Given the description of an element on the screen output the (x, y) to click on. 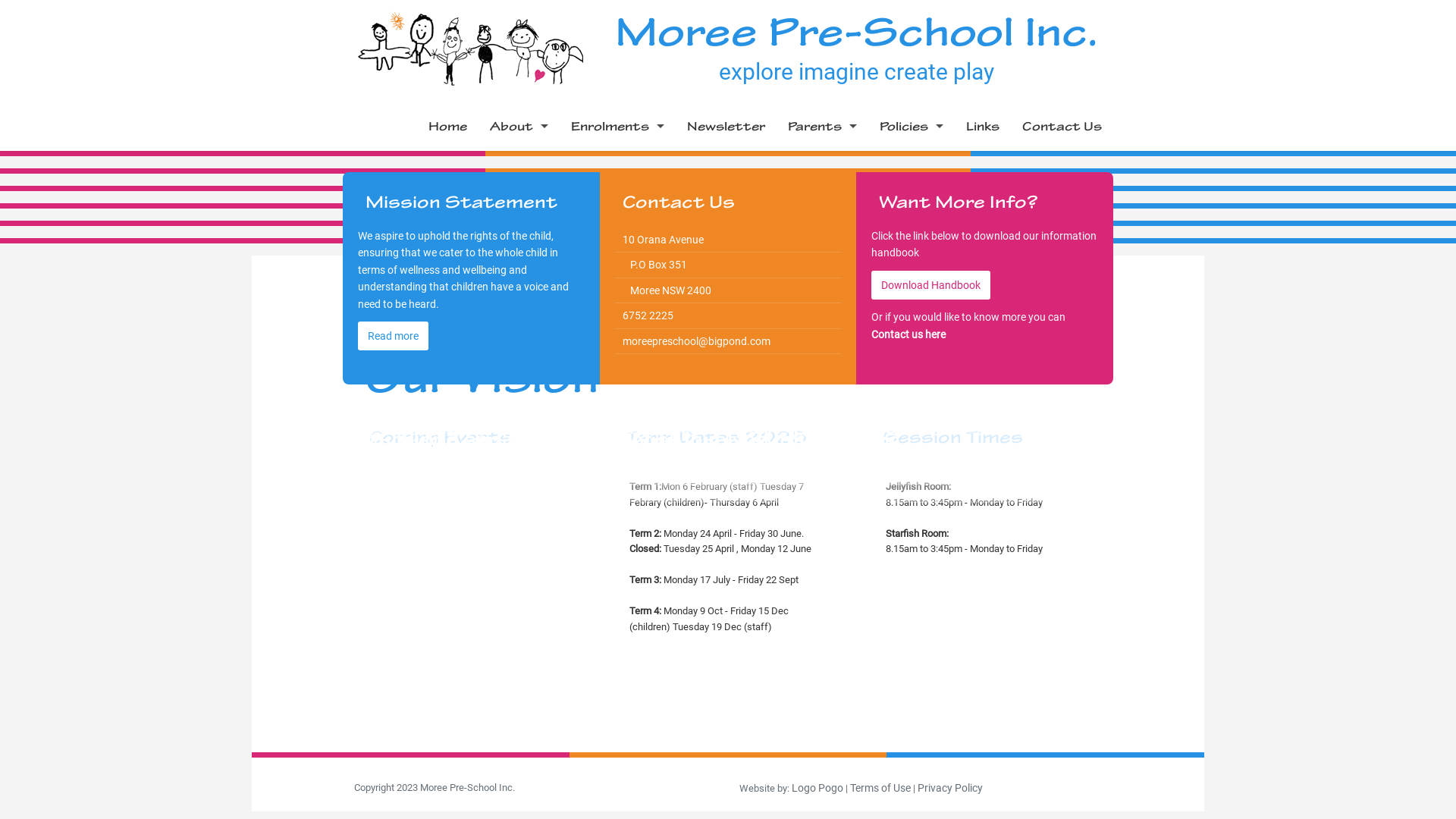
Forms Element type: text (617, 194)
Parents Element type: text (822, 126)
Delivery and Collection Information Element type: text (822, 296)
Terms of Use Element type: text (880, 787)
Management Element type: text (518, 228)
Curriculum and Program Element type: text (822, 330)
Logo Pogo Element type: text (817, 787)
Contact Us Element type: text (1061, 126)
Fees Element type: text (617, 160)
About Element type: text (518, 126)
Information Handbook Element type: text (822, 228)
Contact us here Element type: text (908, 334)
Read more Element type: text (392, 335)
Newsletter Element type: text (725, 126)
Support Services Element type: text (518, 296)
Links Element type: text (982, 126)
Download Handbook Element type: text (930, 284)
Committee Meeting Dates Element type: text (822, 194)
Term Dates Element type: text (822, 160)
moreepreschool@bigpond.com Element type: text (696, 341)
Medical Information Element type: text (822, 365)
Ways you can help as a parent Element type: text (822, 433)
Events and Celebrations Element type: text (822, 467)
Photo Gallery Element type: text (518, 262)
When you are ready to start at Pre-School Element type: text (822, 399)
Home Element type: text (447, 126)
Philosophy Element type: text (518, 160)
Enrolments Element type: text (617, 126)
Room Information Element type: text (822, 262)
Privacy Policy Element type: text (949, 787)
Useful Contacts Element type: text (518, 330)
Grievance Policy Element type: text (911, 160)
Staff Profiles Element type: text (518, 194)
Parent Concerns Element type: text (822, 501)
Policies Element type: text (911, 126)
Moree Preschool Element type: hover (470, 47)
